Given the description of an element on the screen output the (x, y) to click on. 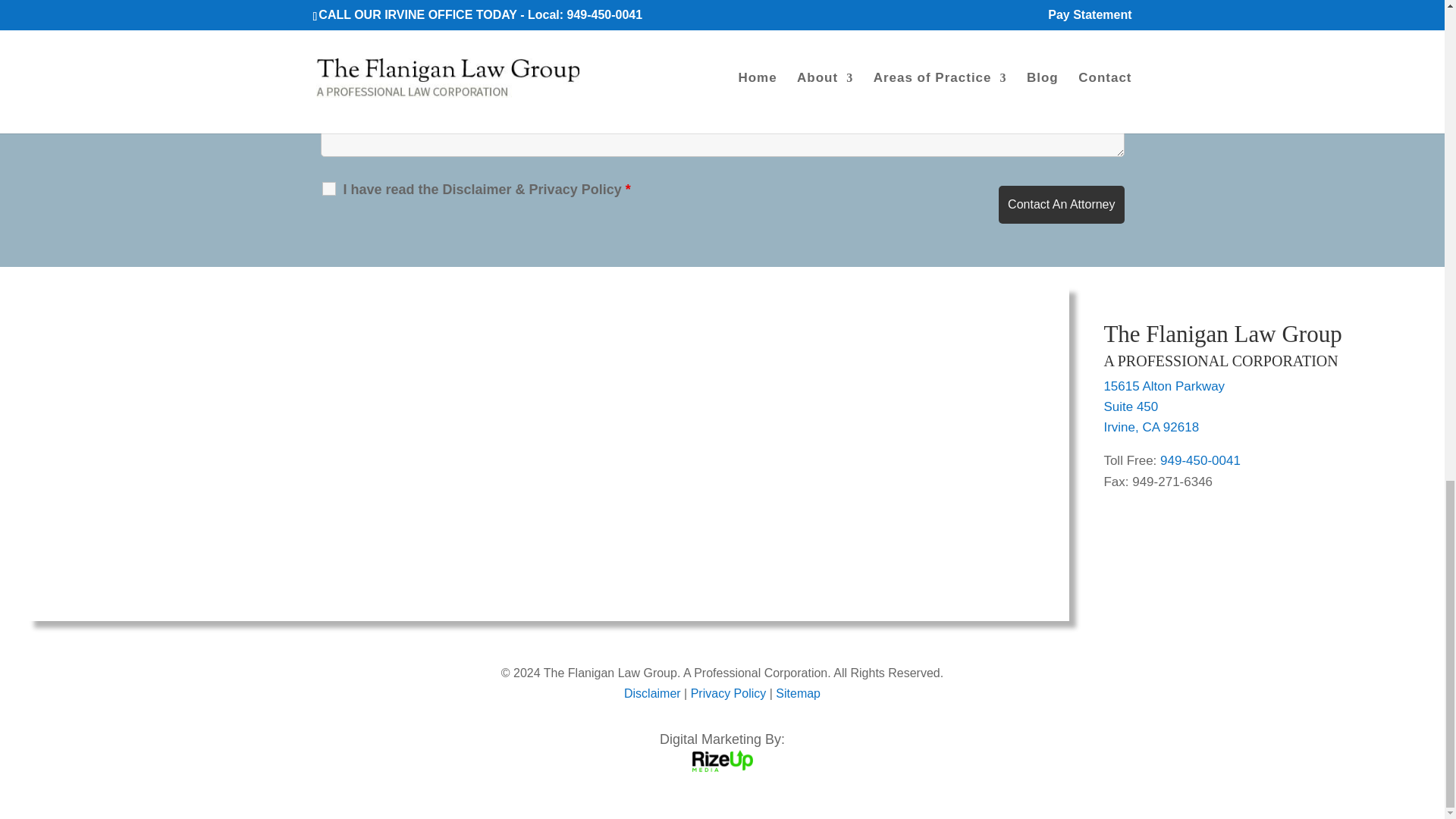
Contact An Attorney (1061, 204)
Disclaimer (652, 693)
Privacy Policy (728, 693)
Sitemap (798, 693)
15615 Alton Parkway (1163, 386)
Suite 450 (1130, 406)
Contact An Attorney (1061, 204)
Open in Google Maps (1163, 386)
Open in Google Maps (1130, 406)
Touch to Dial (1200, 460)
949-450-0041 (1200, 460)
Irvine, CA 92618 (1150, 427)
Open in Google Maps (1150, 427)
